Given the description of an element on the screen output the (x, y) to click on. 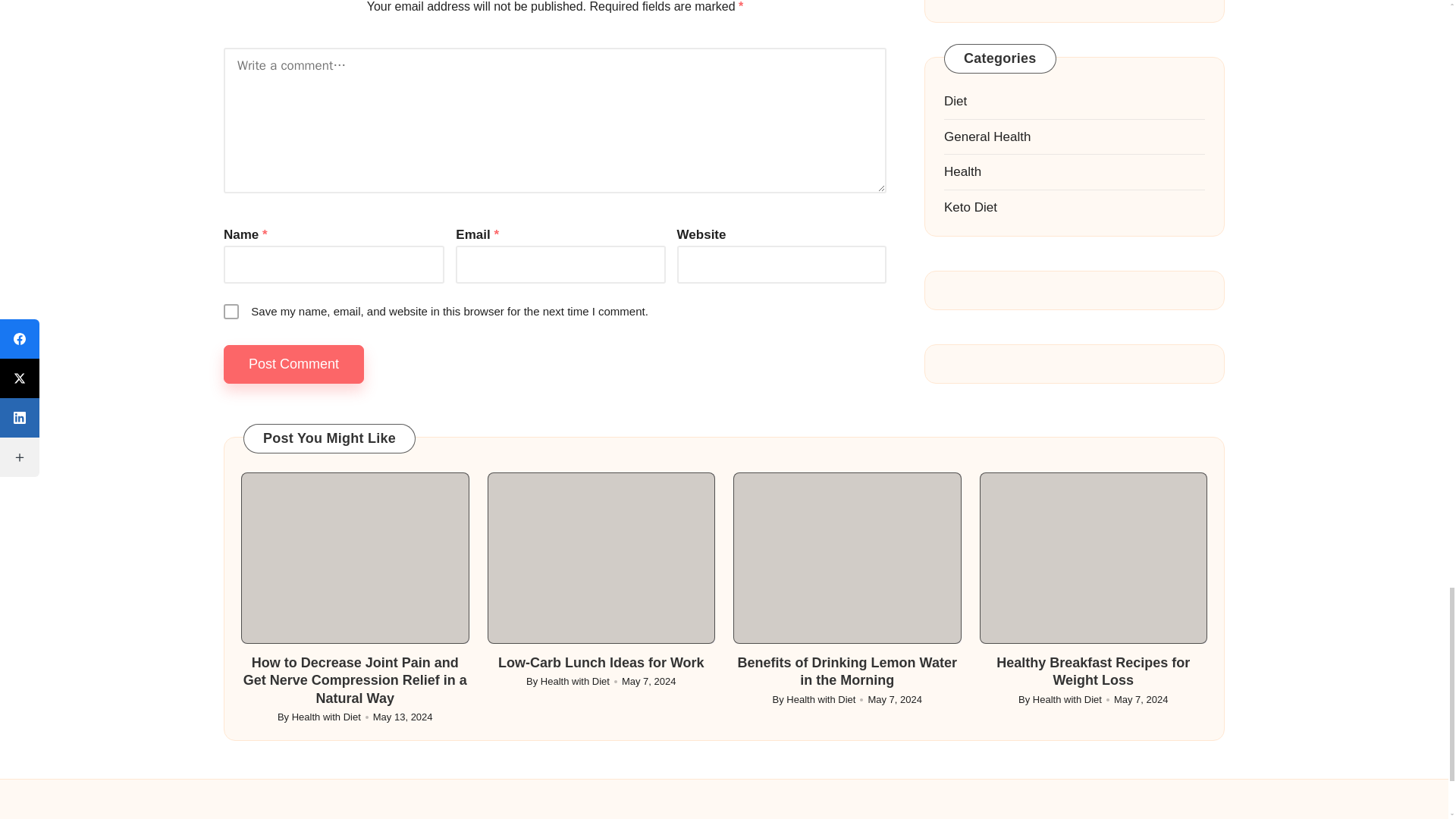
View all posts by Health with Diet (821, 699)
Healthy Breakfast Recipes for Weight Loss 6 (1093, 557)
Benefits of Drinking Lemon Water in the Morning 5 (846, 557)
View all posts by Health with Diet (1067, 699)
Post Comment (294, 364)
View all posts by Health with Diet (326, 716)
Low-Carb Lunch Ideas for Work 4 (600, 557)
View all posts by Health with Diet (575, 681)
yes (231, 311)
